Given the description of an element on the screen output the (x, y) to click on. 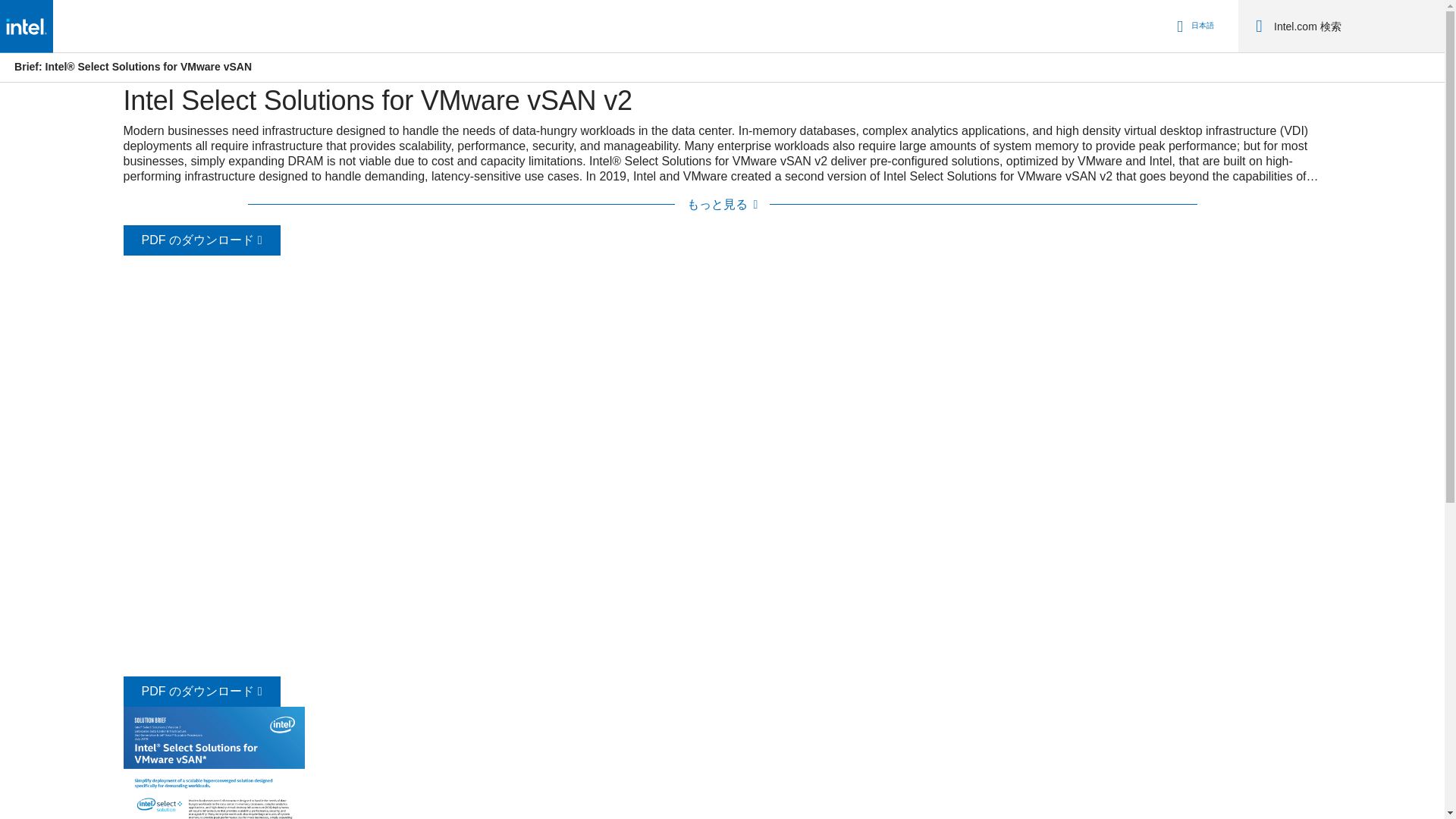
Language Selector (1193, 26)
